Given the description of an element on the screen output the (x, y) to click on. 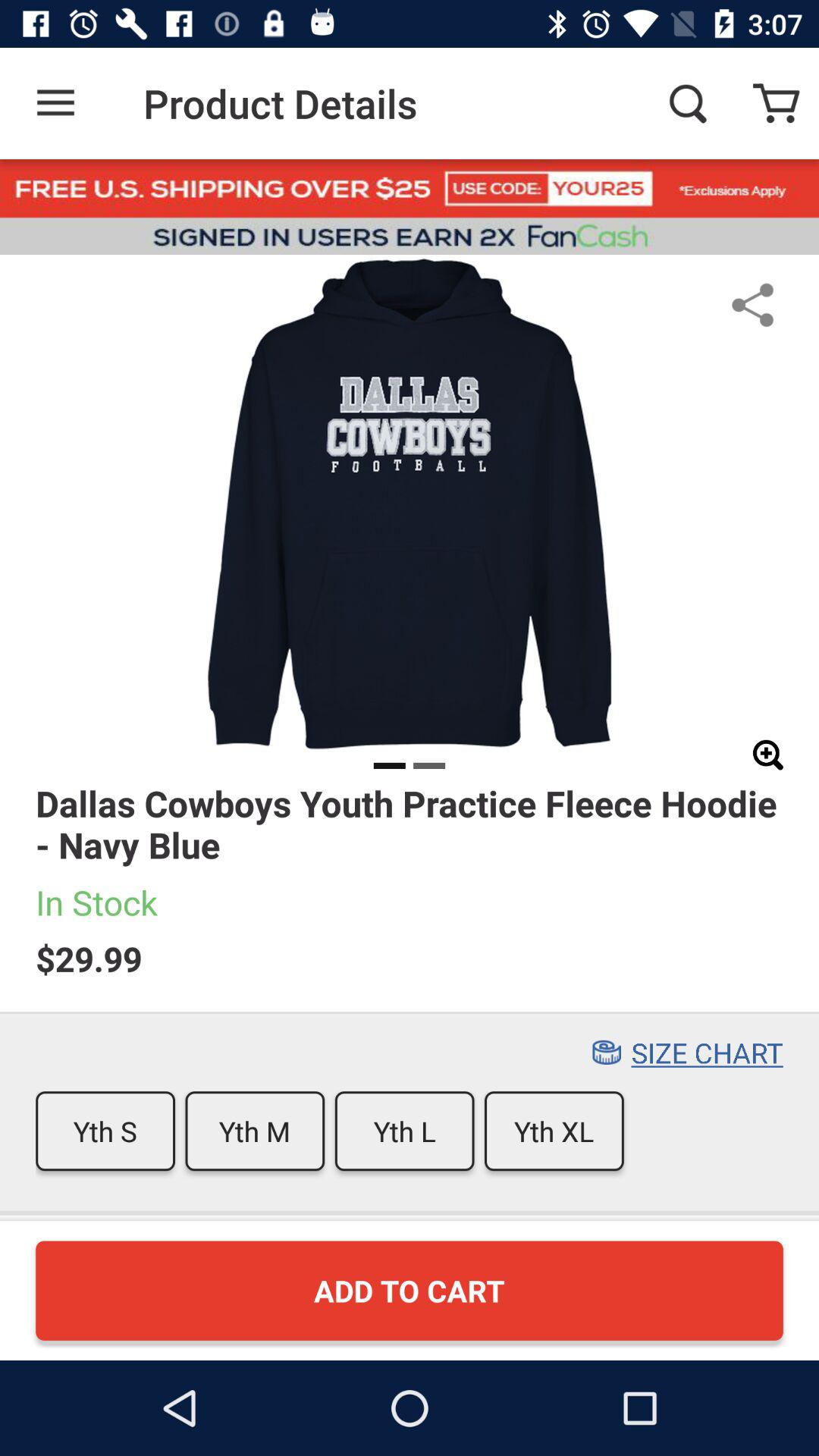
turn off item to the left of yth xl (404, 1131)
